Given the description of an element on the screen output the (x, y) to click on. 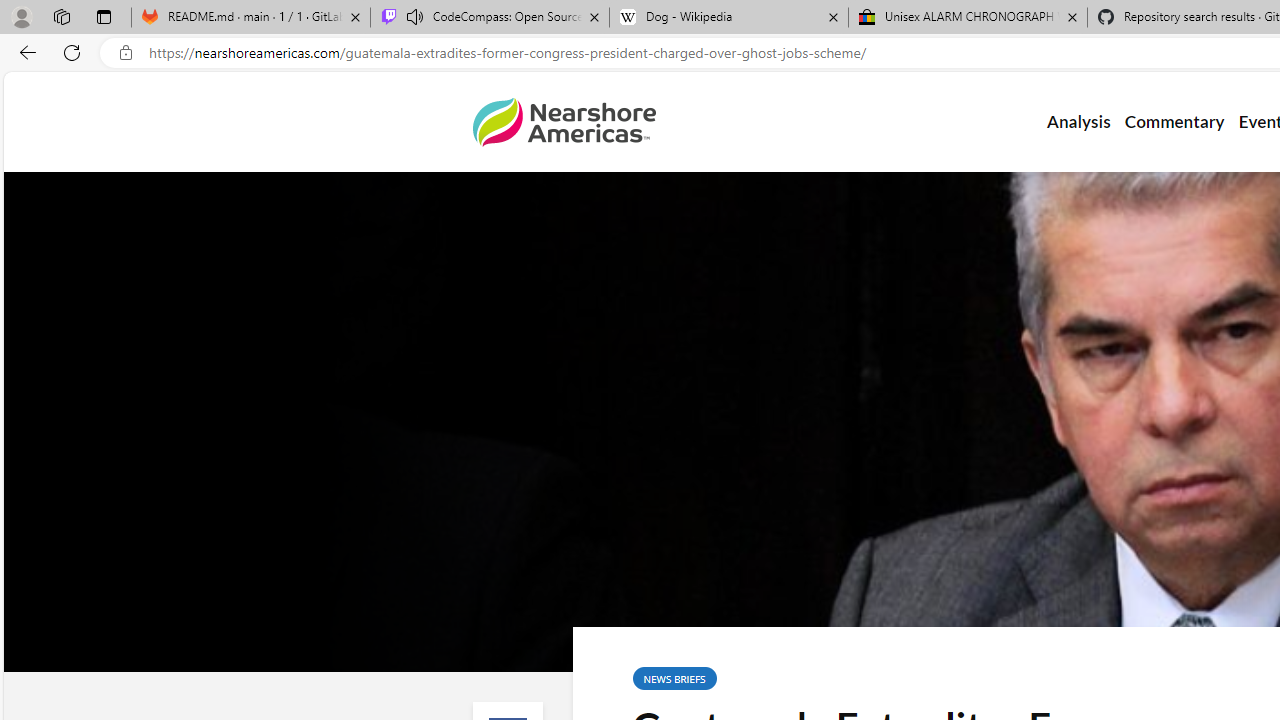
Dog - Wikipedia (729, 17)
Commentary (1174, 121)
